Given the description of an element on the screen output the (x, y) to click on. 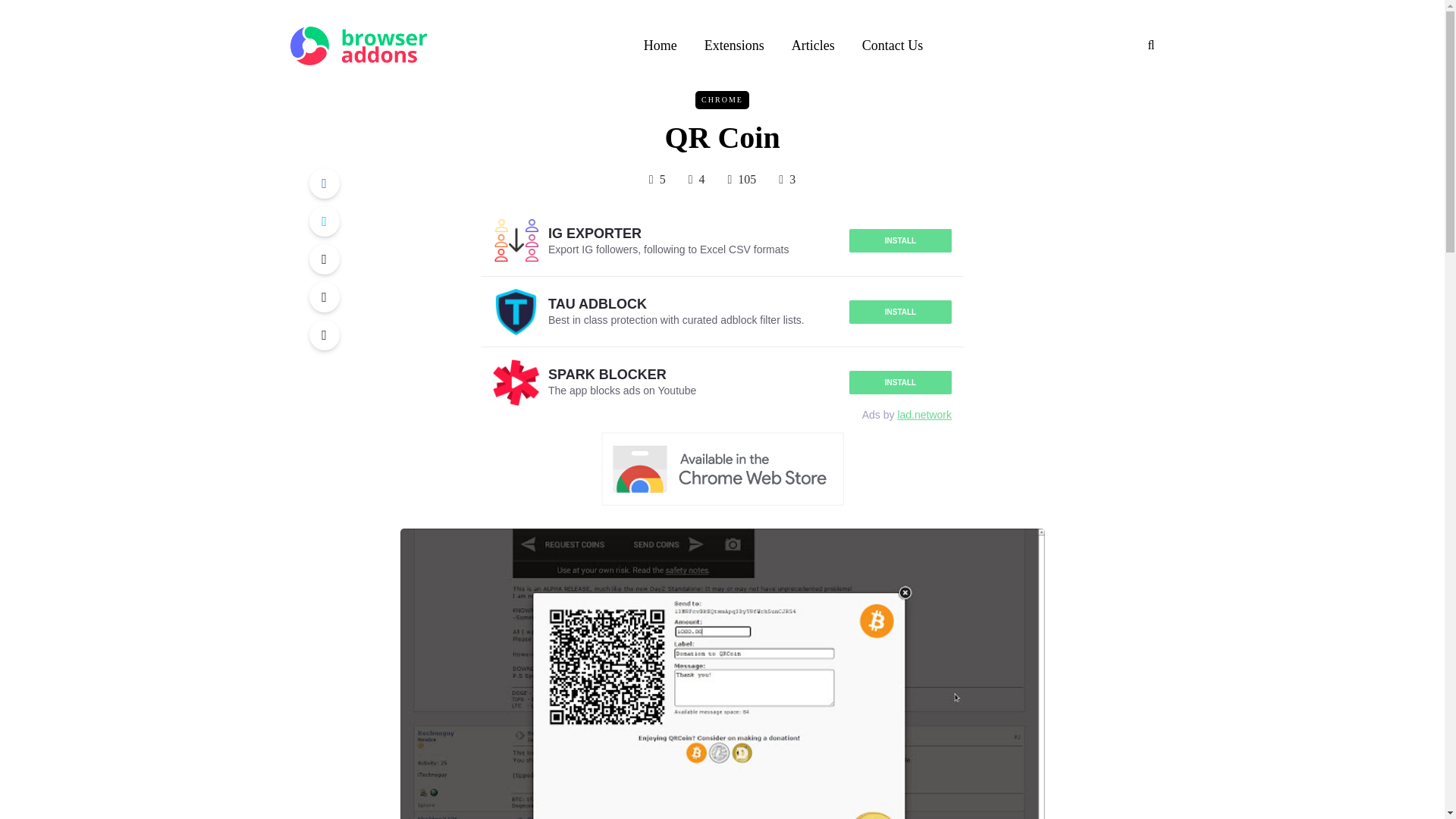
lad.network (924, 414)
INSTALL (900, 311)
Home (660, 45)
INSTALL (900, 240)
Share to WhatsApp (323, 259)
Extensions (733, 45)
Articles (812, 45)
Share with Facebook (323, 183)
Share to Telegram (323, 296)
Share by Email (323, 335)
Search (43, 15)
CHROME (722, 99)
Contact Us (892, 45)
INSTALL (900, 382)
Tweet this (323, 221)
